Given the description of an element on the screen output the (x, y) to click on. 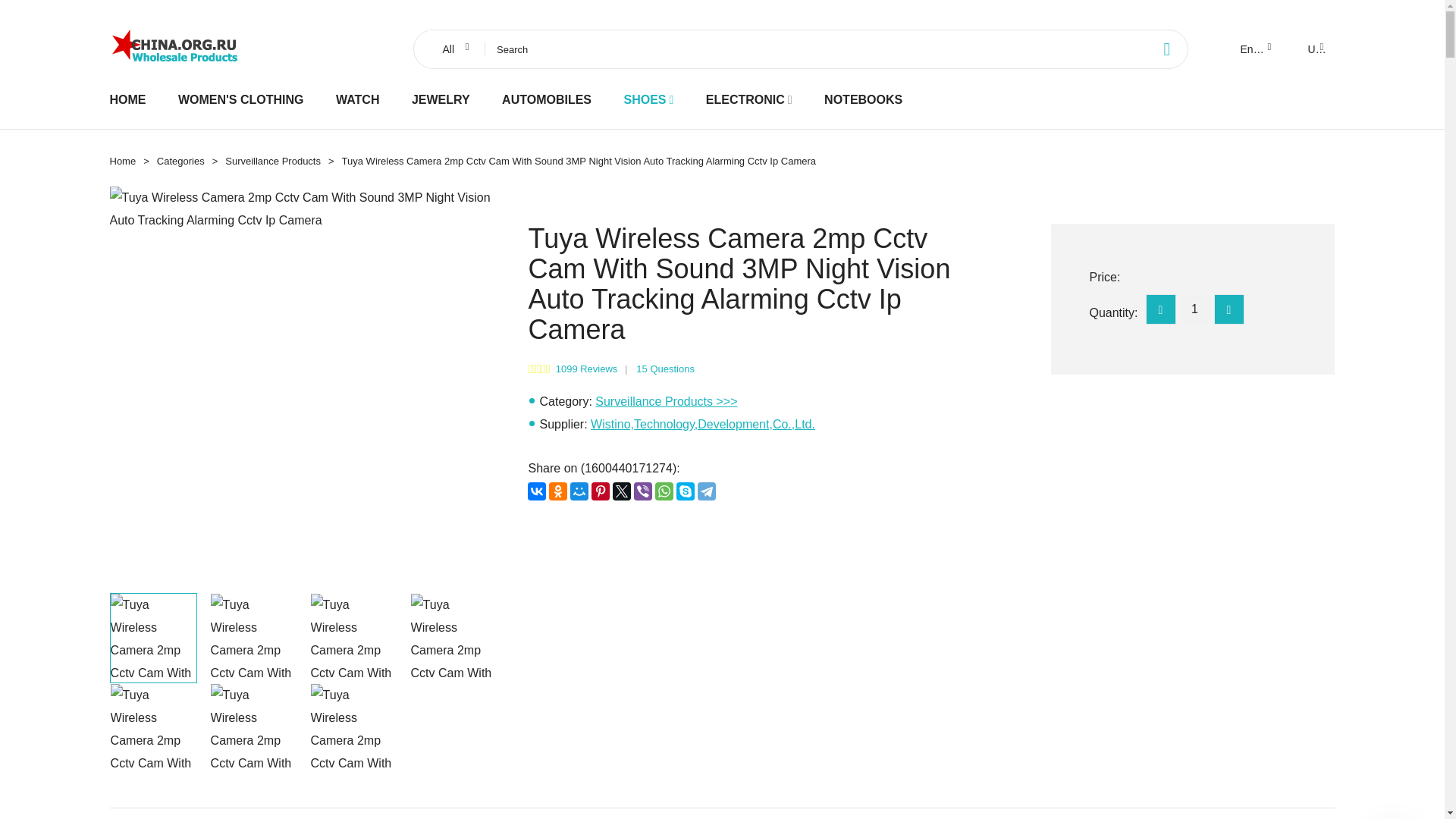
Wistino,Technology,Development,Co.,Ltd. (703, 423)
HOME (127, 99)
WOMEN'S CLOTHING (240, 99)
All (454, 48)
SHOES (644, 99)
Home (122, 161)
AUTOMOBILES (546, 99)
ELECTRONIC (745, 99)
Advertisement (756, 629)
NOTEBOOKS (863, 99)
Viber (642, 491)
Skype (685, 491)
WATCH (357, 99)
1 (1194, 309)
Twitter (621, 491)
